Given the description of an element on the screen output the (x, y) to click on. 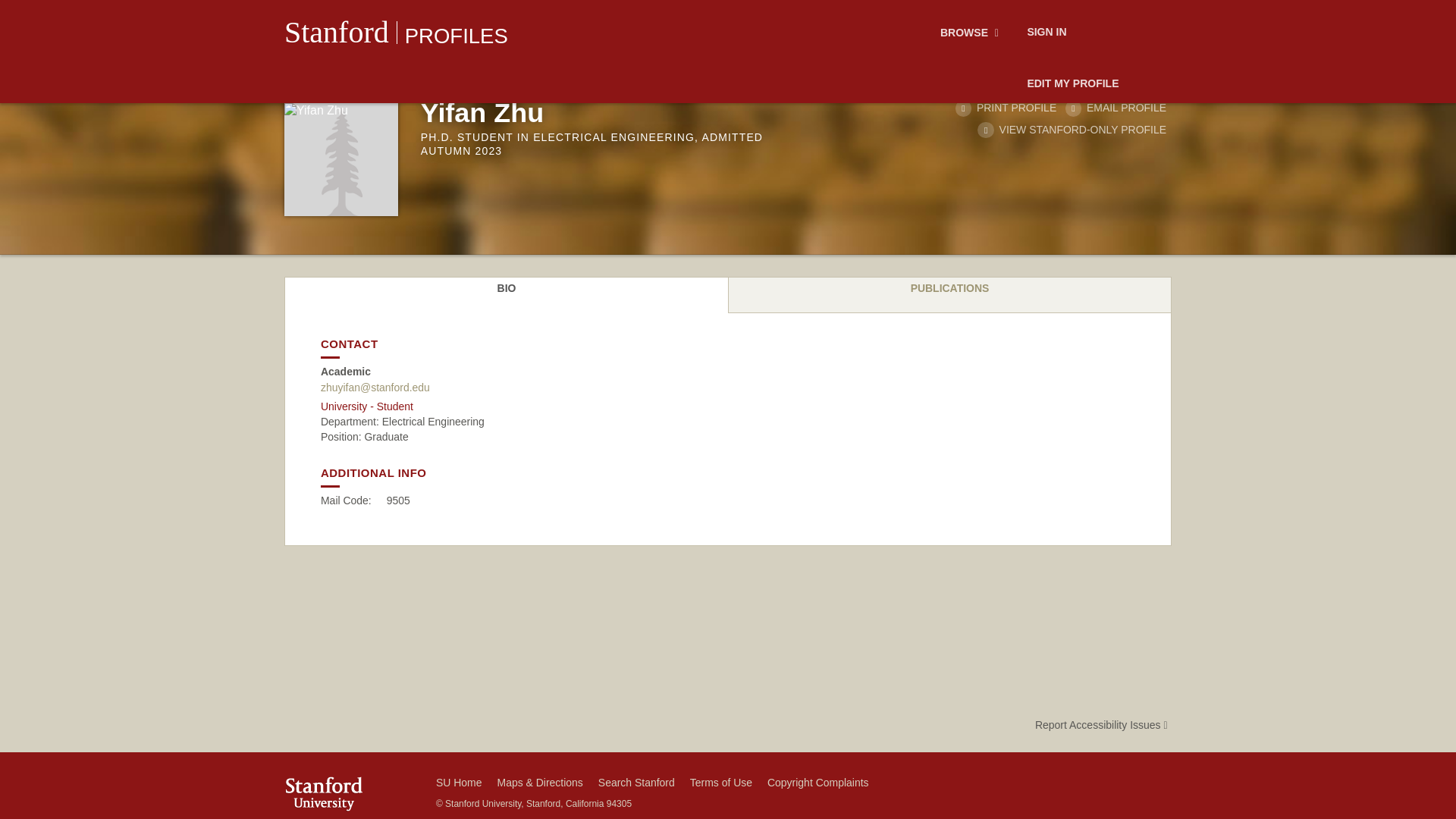
PRINT PROFILE (1006, 107)
VIEW STANFORD-ONLY PROFILE (1071, 129)
EMAIL PROFILE (1115, 107)
BROWSE (971, 32)
PROFILES (456, 35)
Stanford (335, 32)
EDIT MY PROFILE (1071, 84)
SIGN IN (1045, 32)
